Given the description of an element on the screen output the (x, y) to click on. 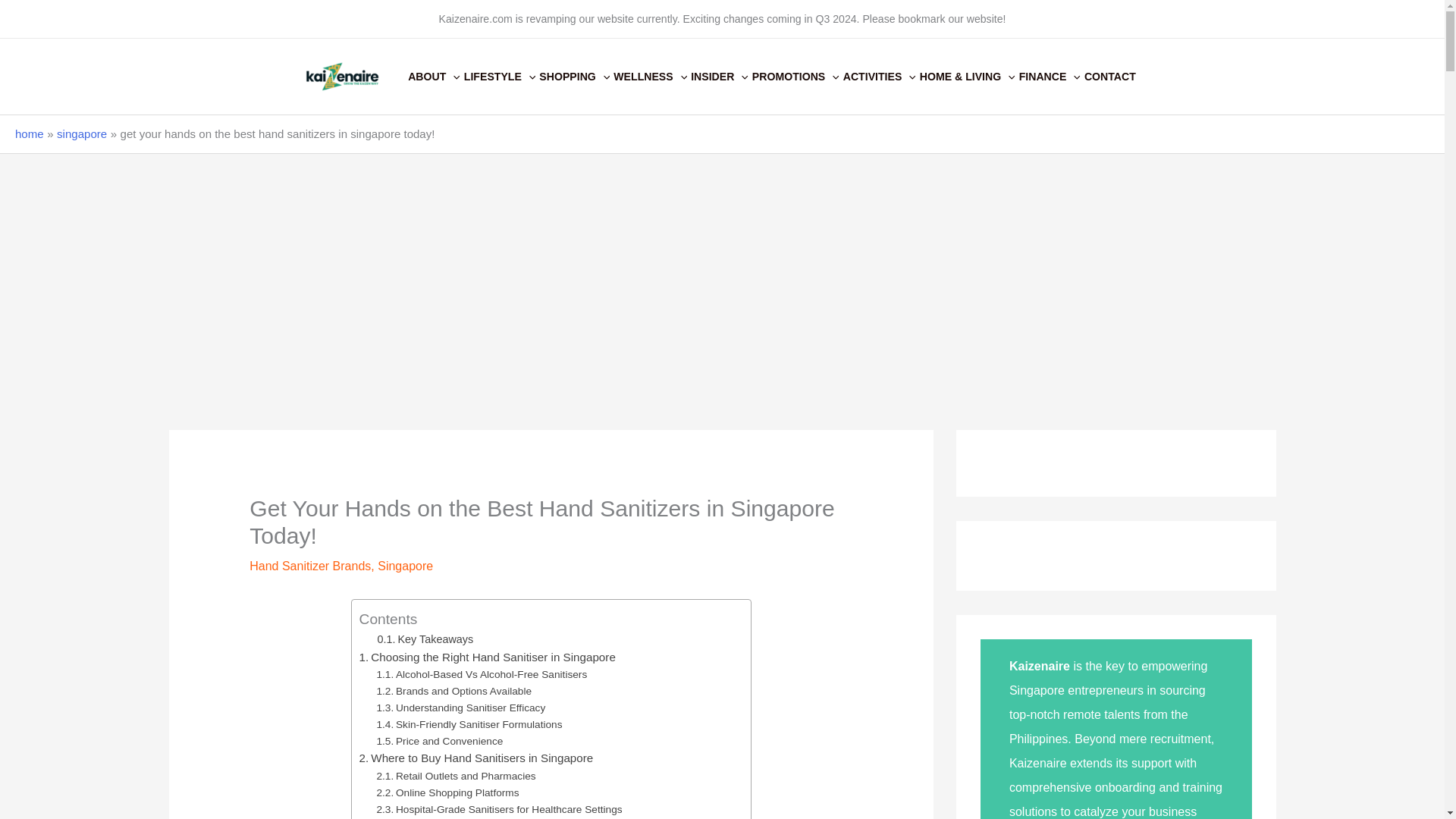
Alcohol-Based Vs Alcohol-Free Sanitisers (480, 674)
Key Takeaways (425, 639)
Retail Outlets and Pharmacies (455, 776)
Price and Convenience (438, 741)
Where to Buy Hand Sanitisers in Singapore (476, 758)
Skin-Friendly Sanitiser Formulations (468, 724)
Online Shopping Platforms (446, 792)
LIFESTYLE (502, 76)
Hospital-Grade Sanitisers for Healthcare Settings (498, 809)
Understanding Sanitiser Efficacy (459, 708)
Brands and Options Available (453, 691)
Choosing the Right Hand Sanitiser in Singapore (487, 657)
